Given the description of an element on the screen output the (x, y) to click on. 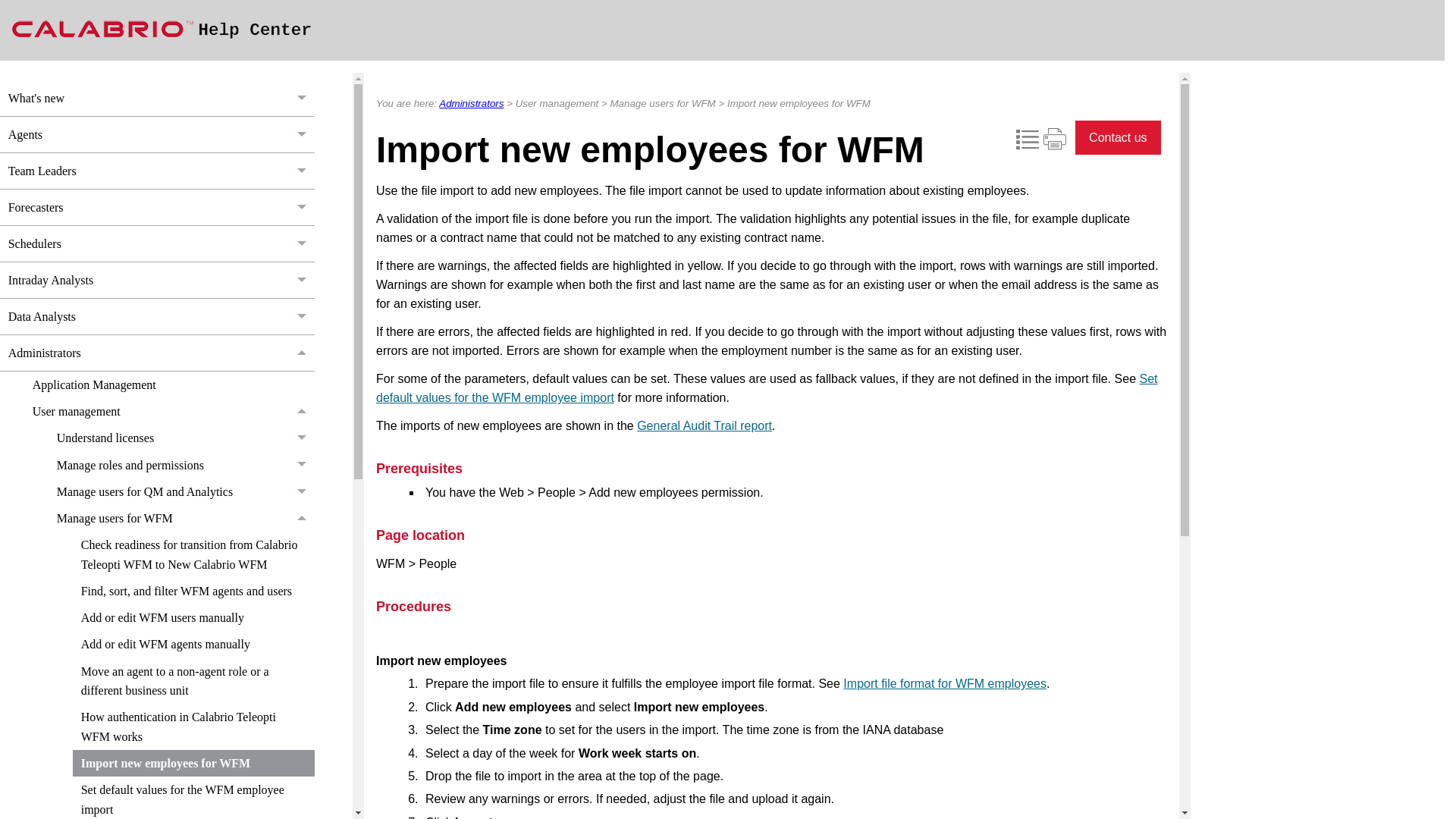
Calabrio Help Center (163, 29)
